Given the description of an element on the screen output the (x, y) to click on. 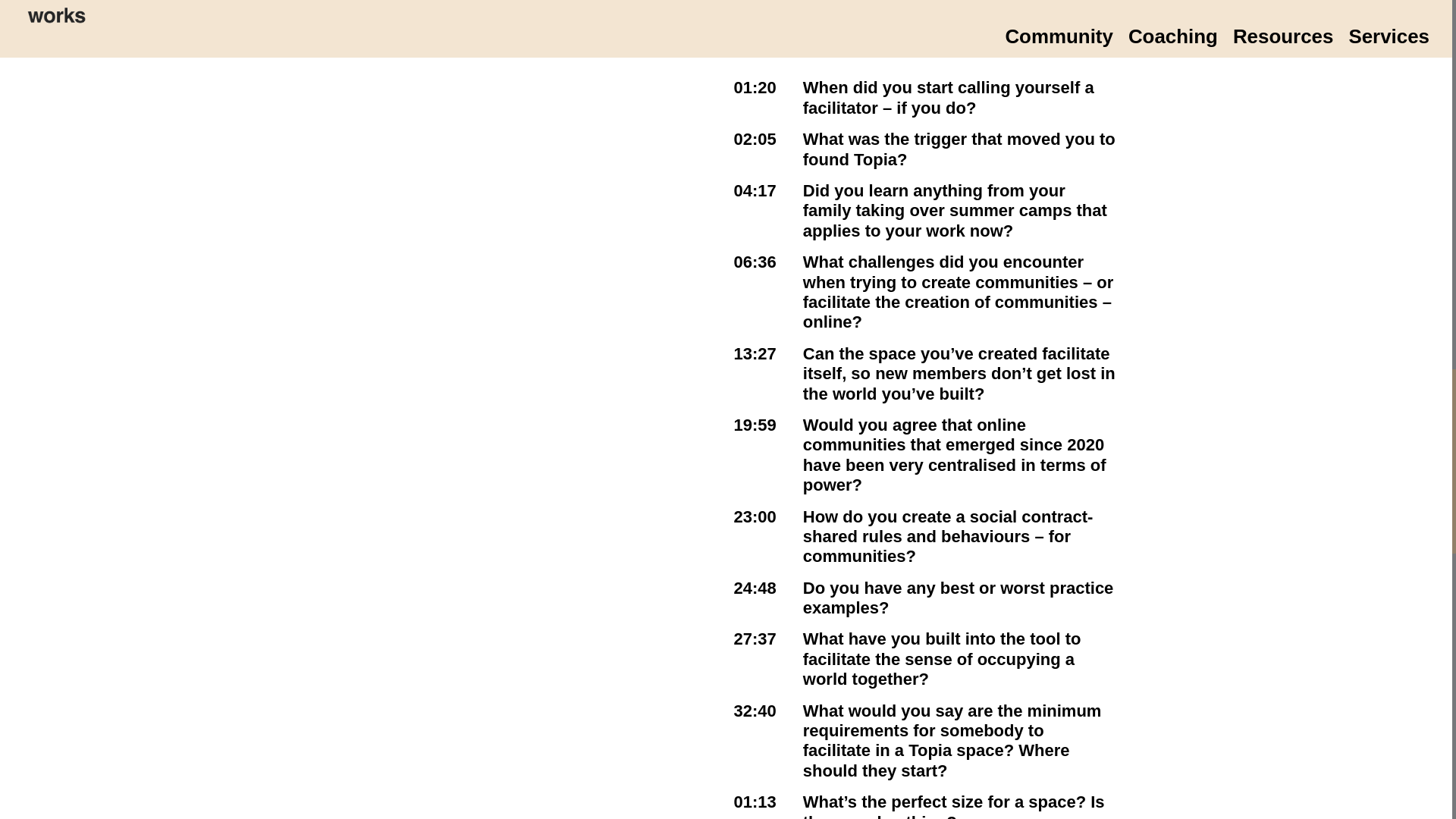
subscribe to the show (1053, 1)
